Given the description of an element on the screen output the (x, y) to click on. 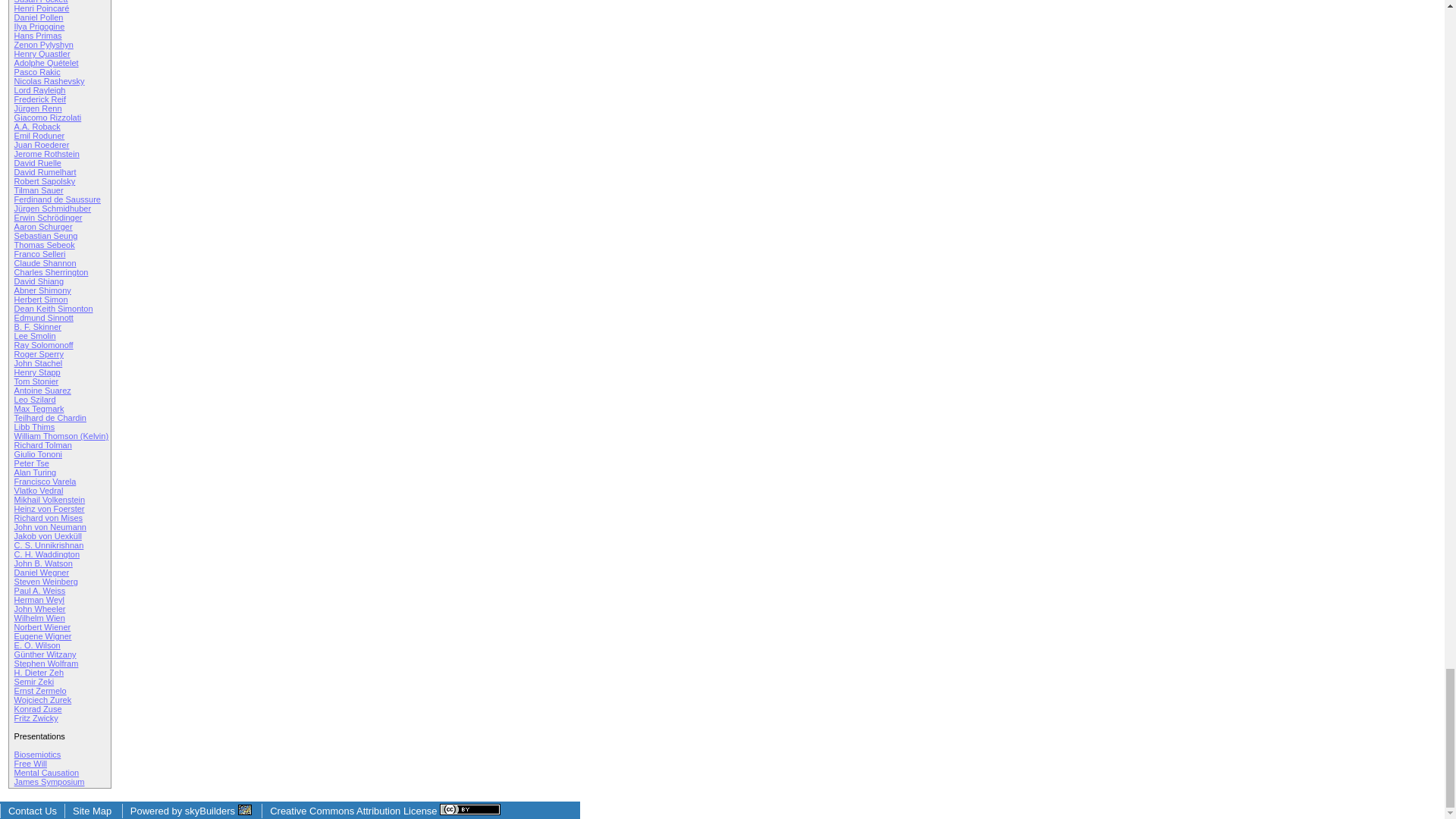
Creative Commons Attribution License (385, 810)
